Given the description of an element on the screen output the (x, y) to click on. 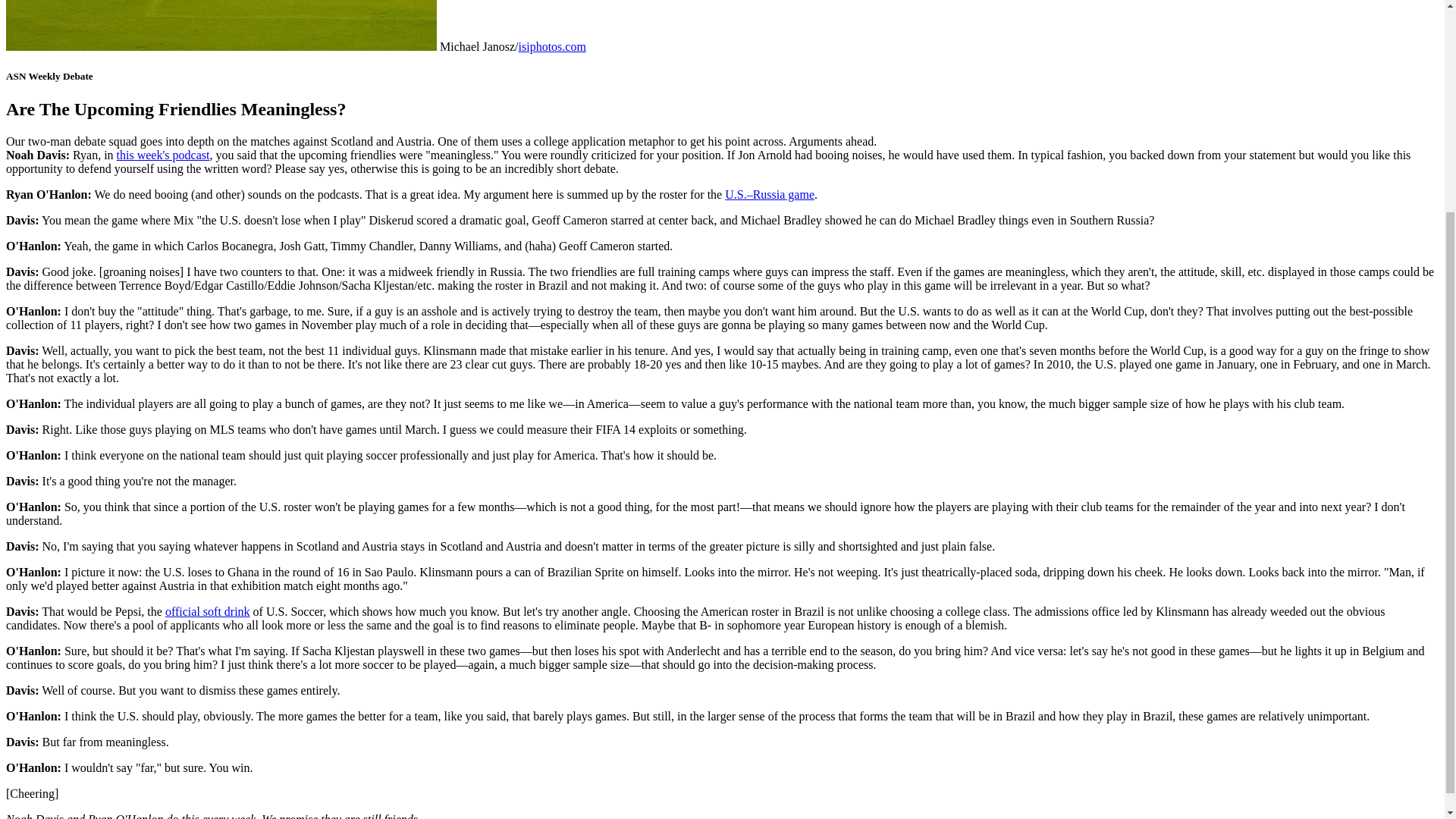
isiphotos.com (552, 46)
official soft drink (207, 611)
this week's podcast (162, 154)
